Given the description of an element on the screen output the (x, y) to click on. 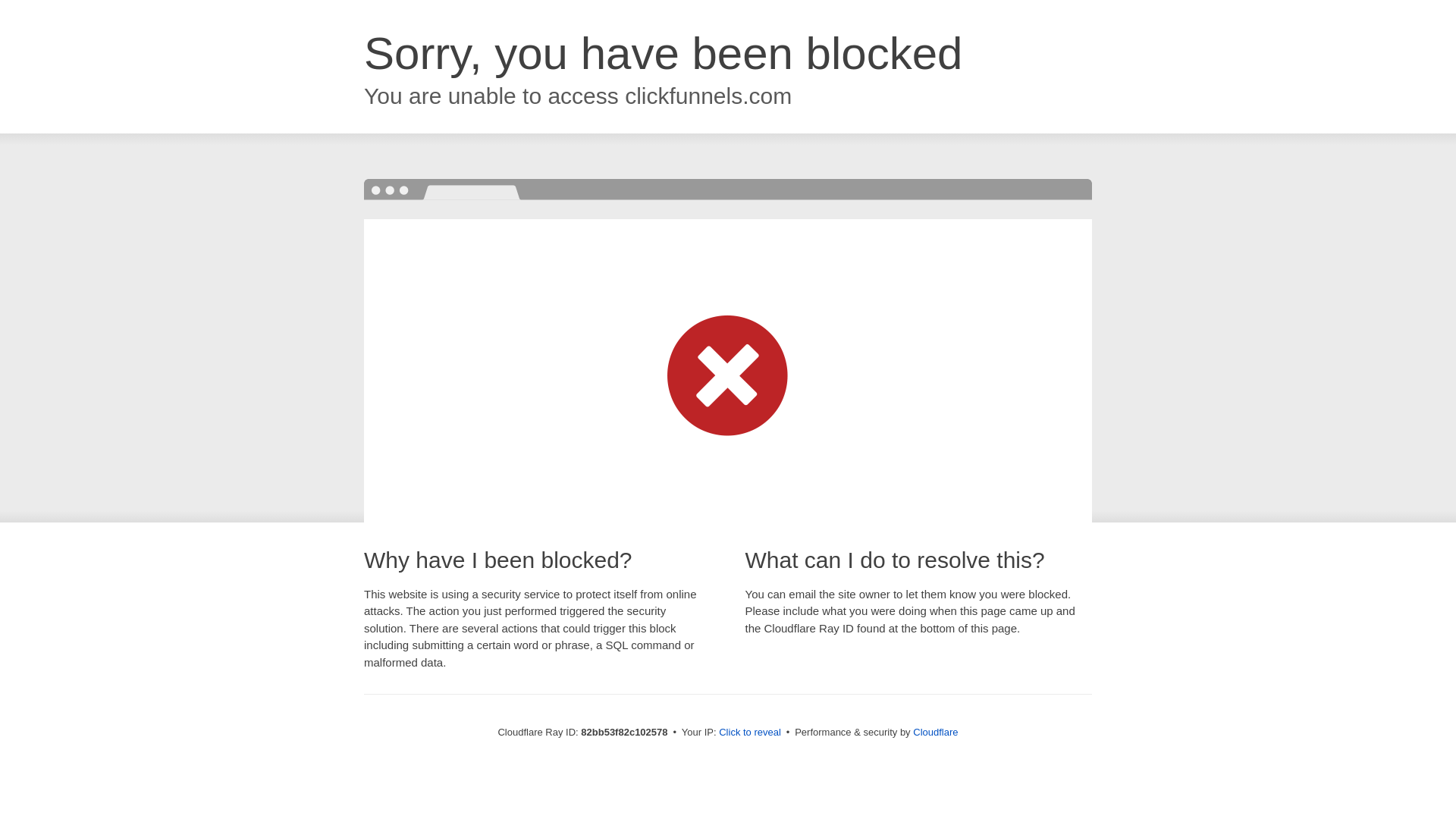
Cloudflare Element type: text (935, 731)
Click to reveal Element type: text (749, 732)
